Given the description of an element on the screen output the (x, y) to click on. 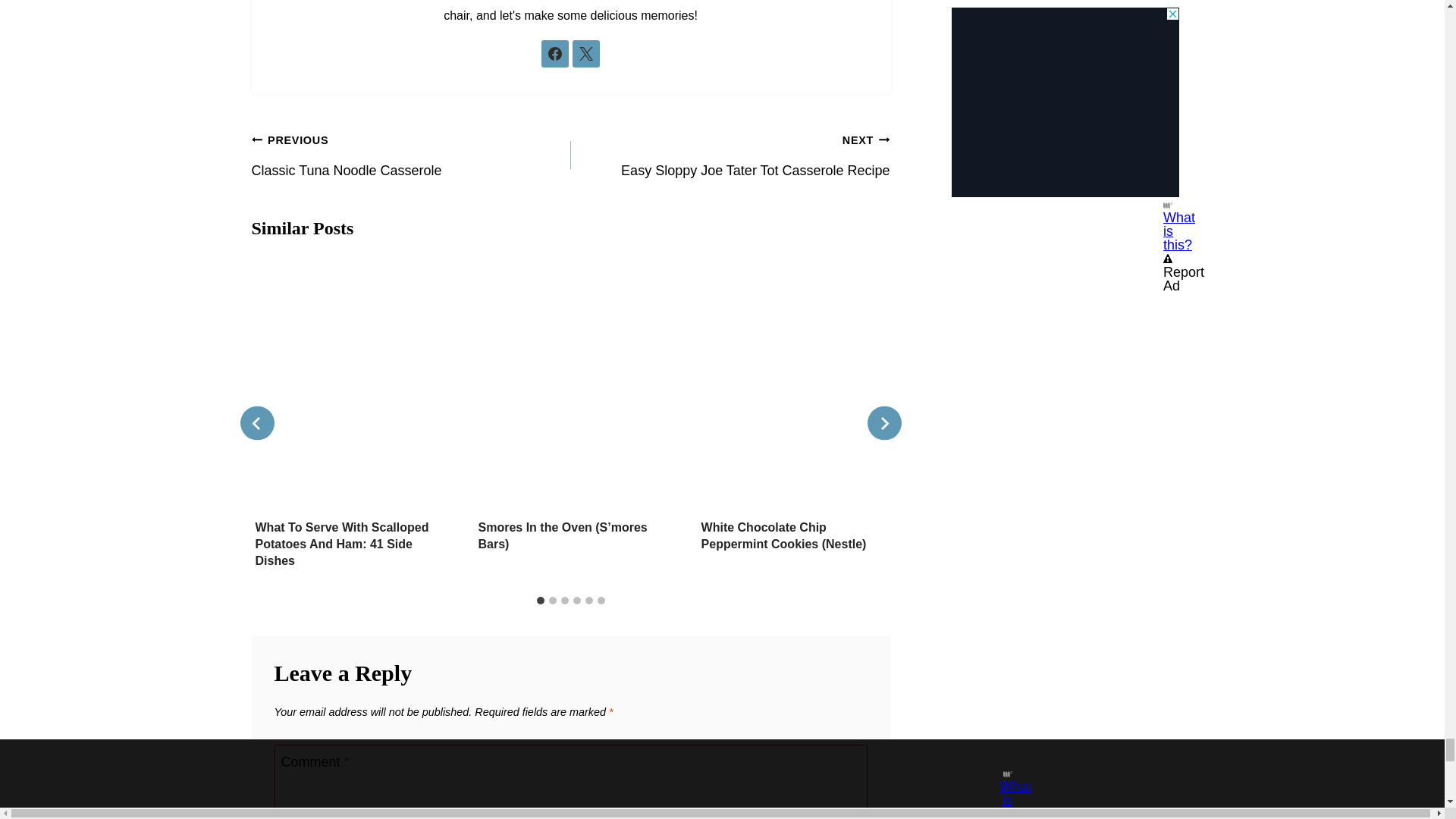
Follow Julie Pollitt on Facebook (555, 53)
Follow Julie Pollitt on X formerly Twitter (585, 53)
